Given the description of an element on the screen output the (x, y) to click on. 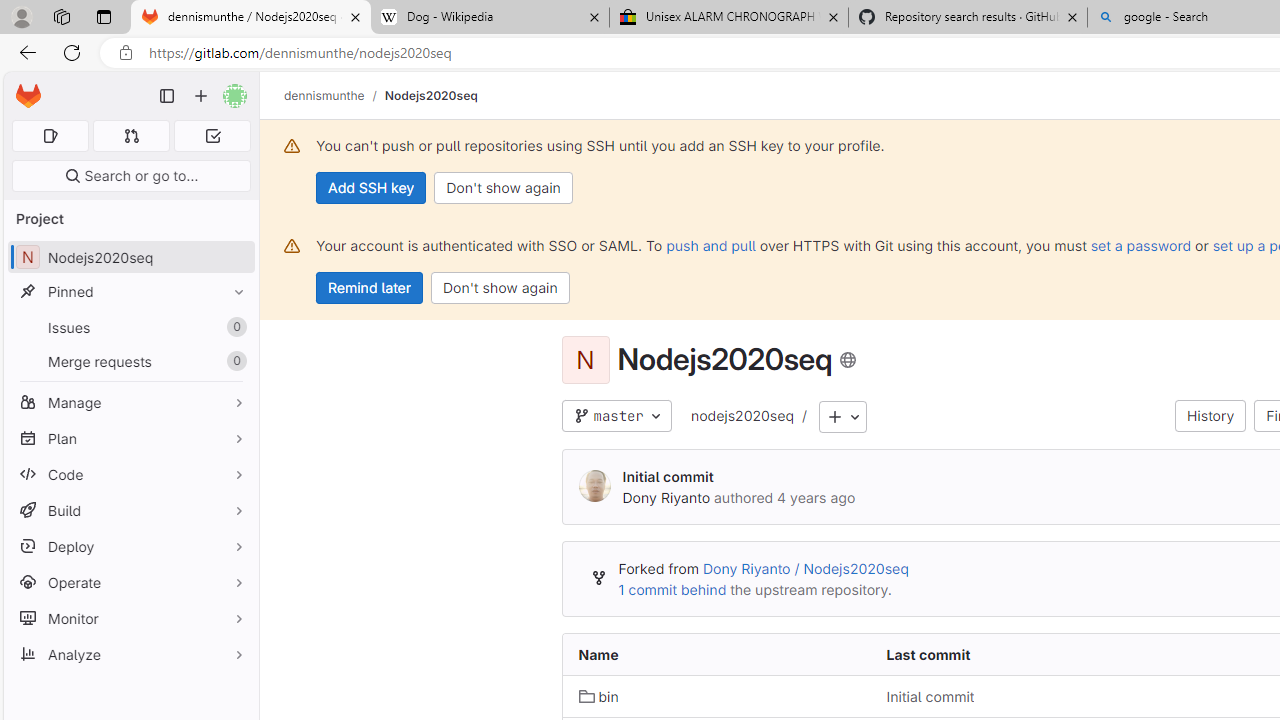
Dony Riyanto (666, 497)
Monitor (130, 618)
Nodejs2020seq (430, 95)
Dony Riyanto's avatar (594, 487)
dennismunthe (324, 95)
Add to tree (843, 417)
Initial commit (1024, 696)
Personal Profile (21, 16)
Assigned issues 0 (50, 136)
Don't show again (500, 287)
Merge requests 0 (131, 136)
N Nodejs2020seq (130, 257)
